Given the description of an element on the screen output the (x, y) to click on. 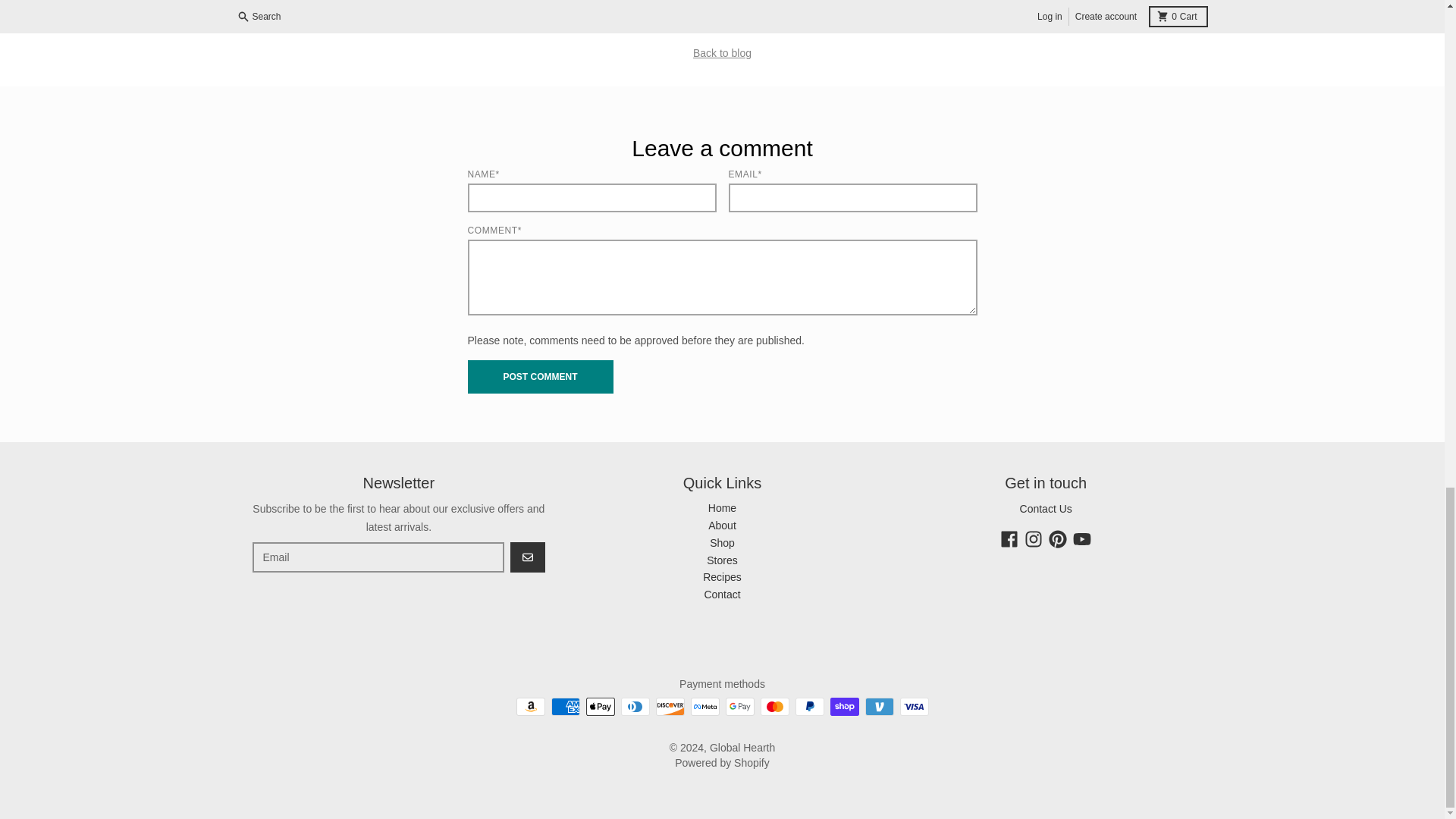
Pinterest - Global Hearth (1057, 538)
Facebook - Global Hearth (1008, 538)
Instagram - Global Hearth (1033, 538)
Post comment (539, 376)
YouTube - Global Hearth (1081, 538)
